Given the description of an element on the screen output the (x, y) to click on. 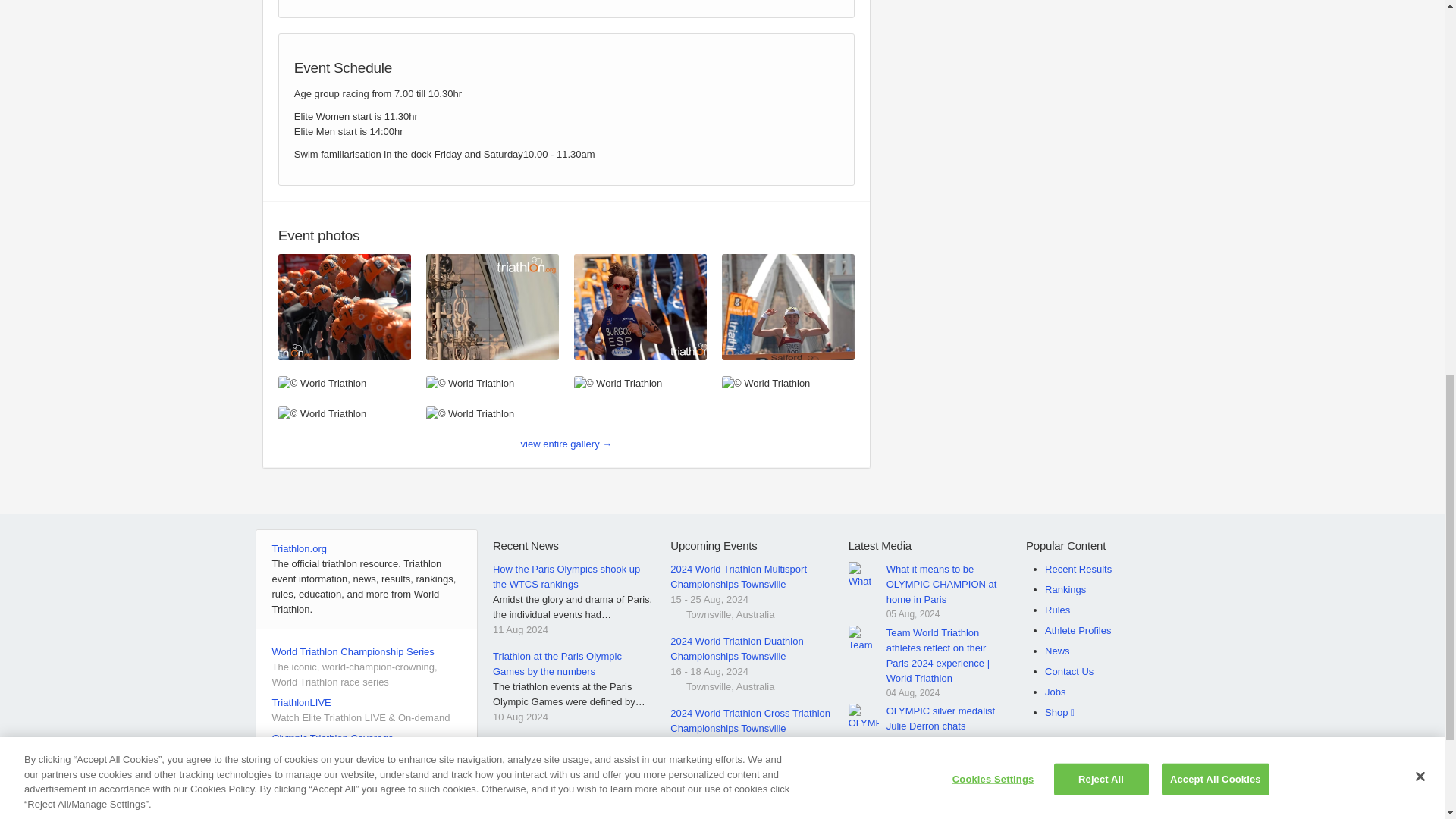
Australia flag (675, 758)
Australia flag (675, 686)
Australia flag (675, 614)
